Given the description of an element on the screen output the (x, y) to click on. 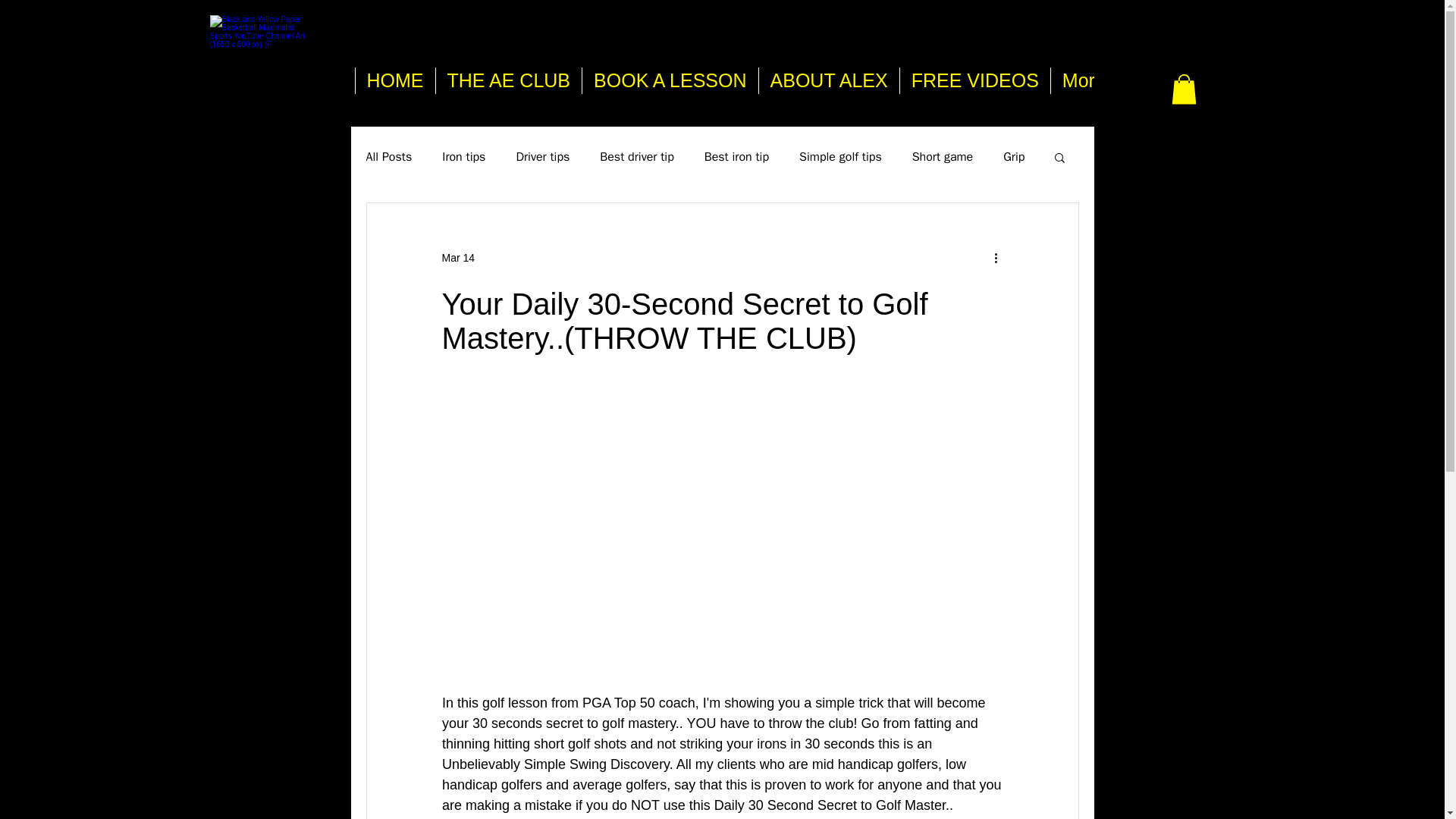
ABOUT ALEX (828, 85)
BOOK A LESSON (668, 85)
THE AE CLUB (508, 85)
Short game (943, 156)
Best iron tip (736, 156)
Iron tips (463, 156)
Mar 14 (457, 257)
Grip (1014, 156)
FREE VIDEOS (974, 85)
Driver tips (542, 156)
